Given the description of an element on the screen output the (x, y) to click on. 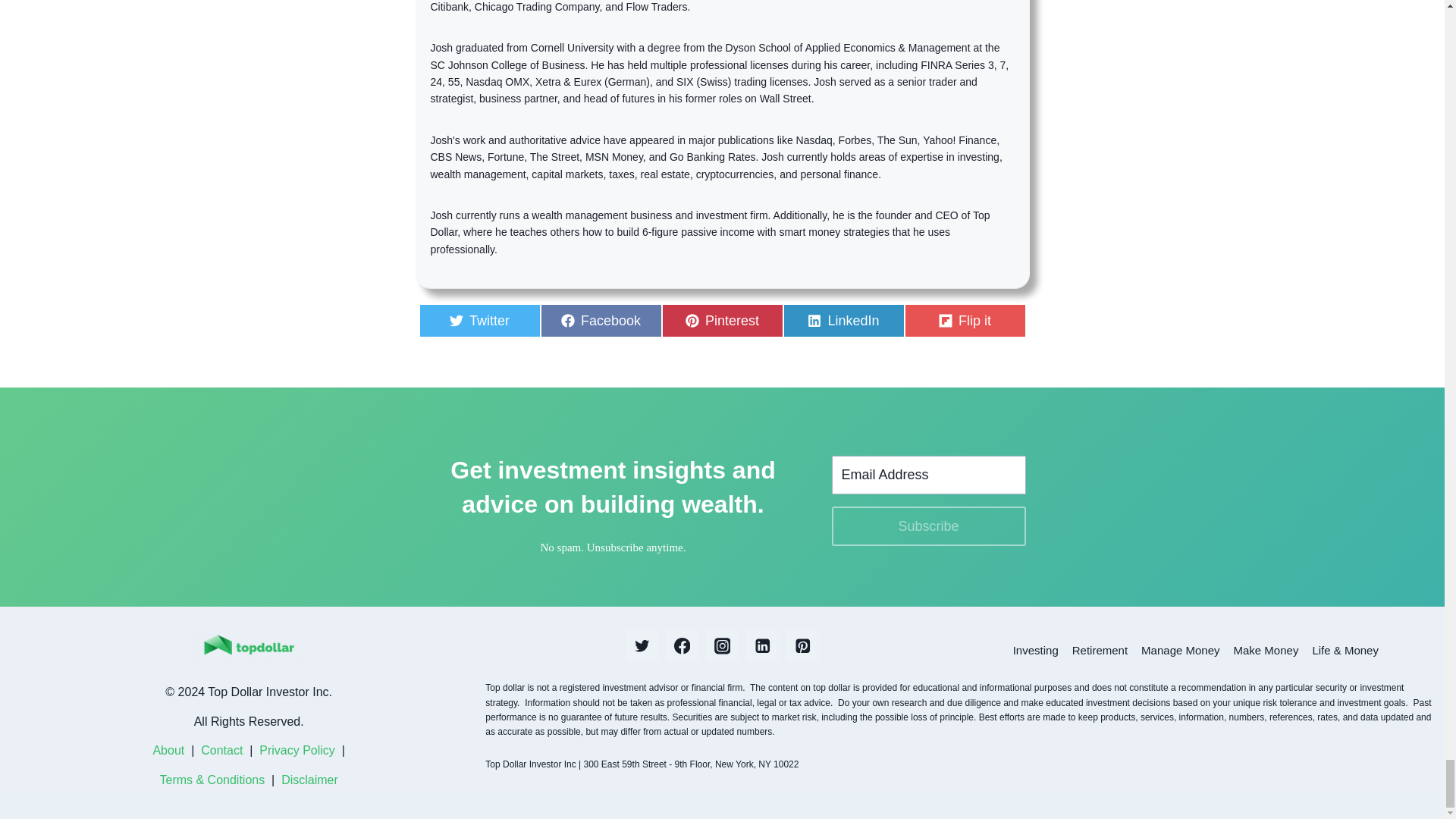
Make Money (1266, 650)
Retirement (1099, 650)
Manage Money (722, 320)
Investing (600, 320)
Subscribe (1179, 650)
